Given the description of an element on the screen output the (x, y) to click on. 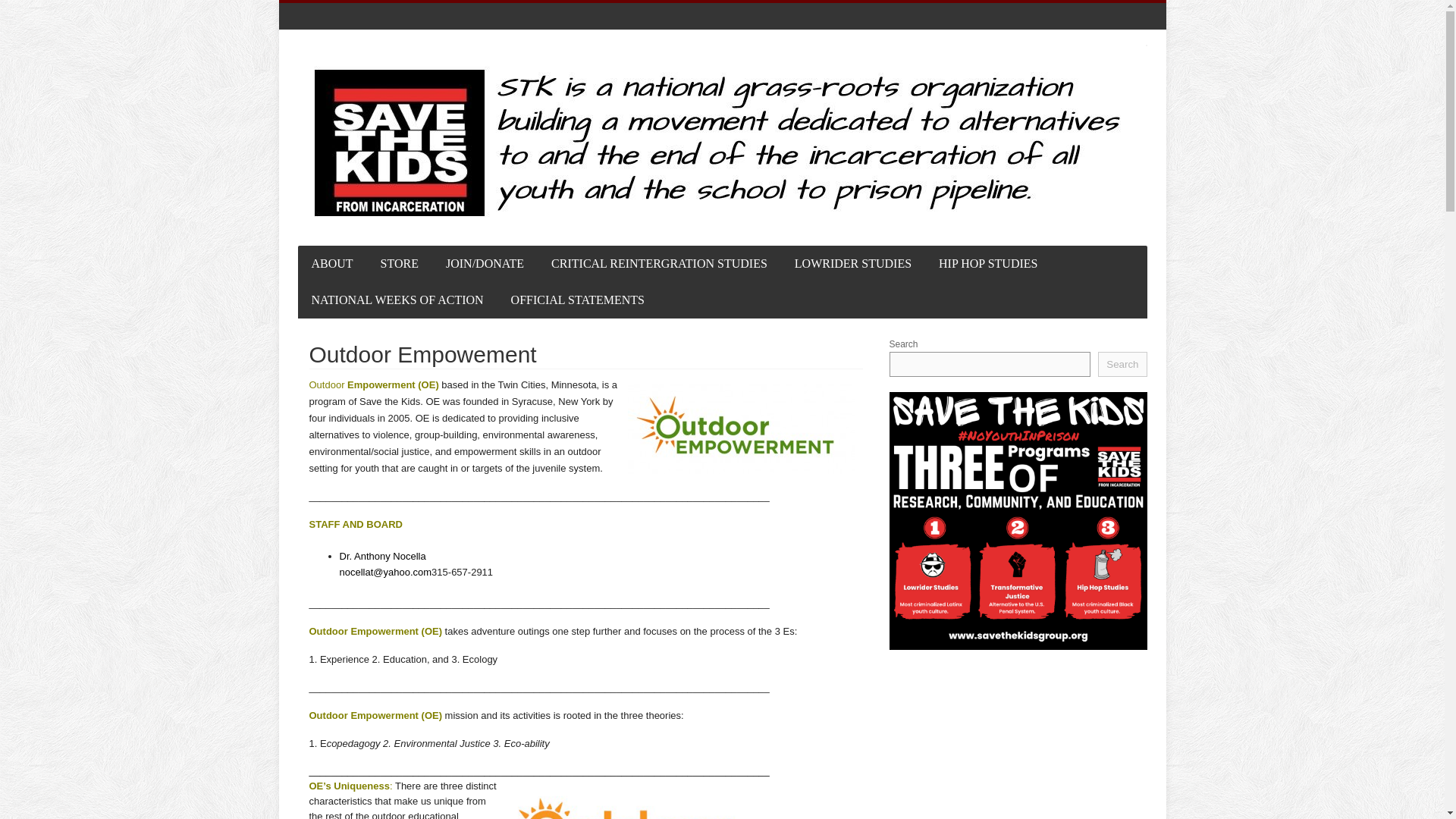
OFFICIAL STATEMENTS (577, 299)
ABOUT (331, 263)
LOWRIDER STUDIES (852, 263)
HIP HOP STUDIES (987, 263)
NATIONAL WEEKS OF ACTION (396, 299)
CRITICAL REINTERGRATION STUDIES (658, 263)
STORE (399, 263)
